Given the description of an element on the screen output the (x, y) to click on. 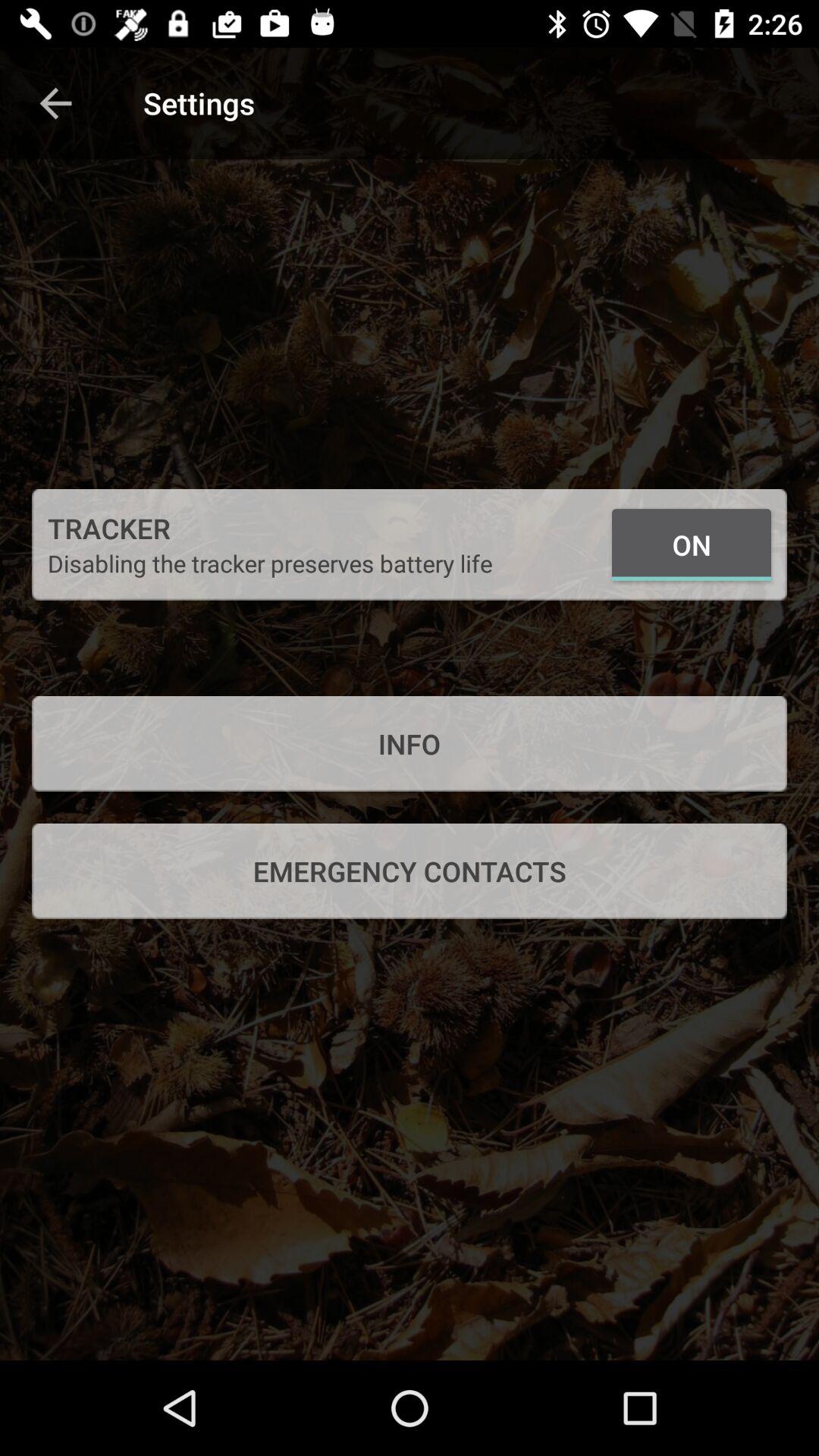
launch info icon (409, 743)
